Given the description of an element on the screen output the (x, y) to click on. 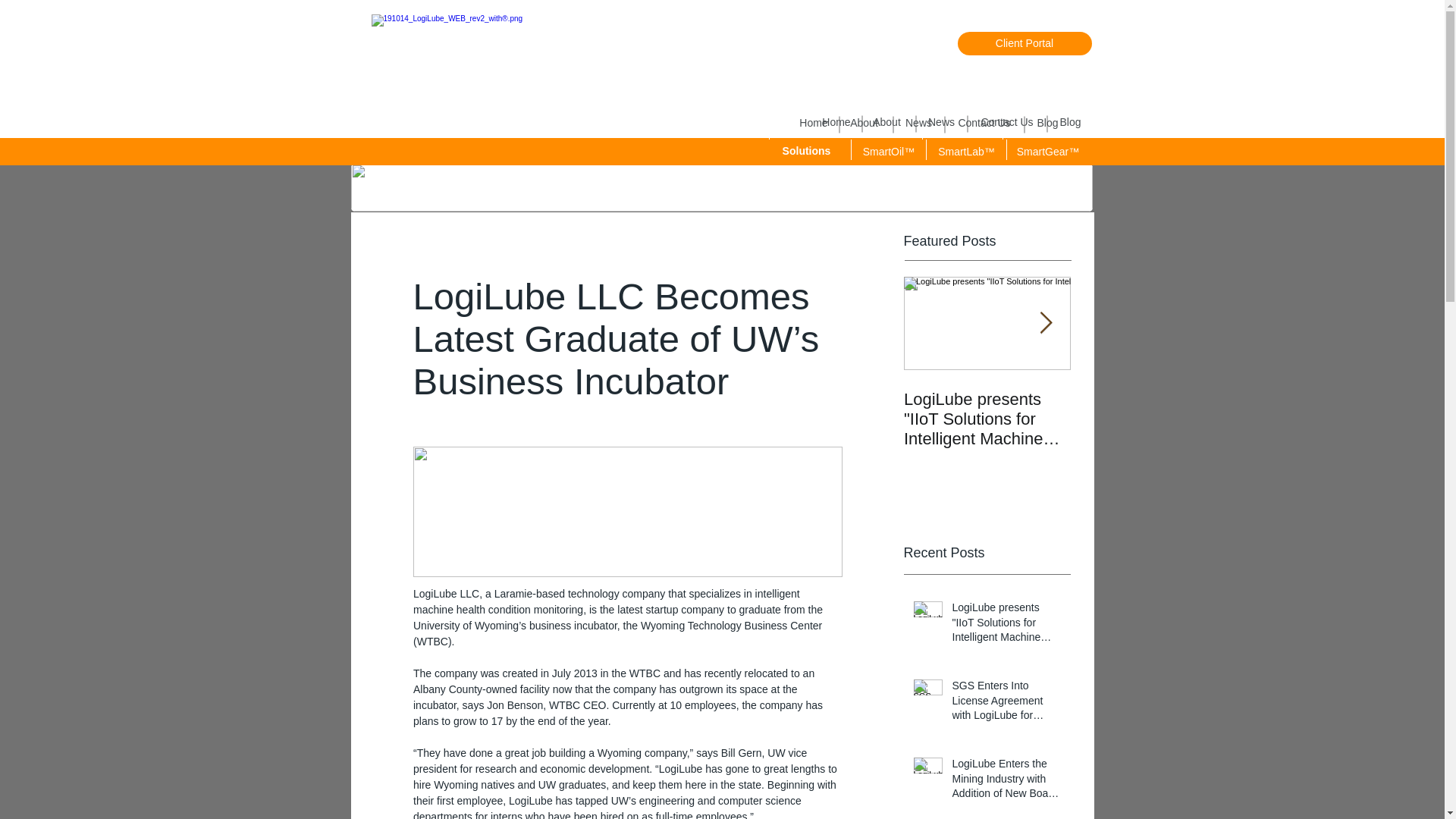
About (887, 122)
Contact Us (984, 123)
News (919, 123)
Blog (1047, 123)
Home (813, 123)
Client Portal (1023, 43)
Contact Us (1007, 122)
About (864, 123)
Home (835, 122)
Blog (1070, 122)
News (940, 122)
Solutions (806, 151)
Solutions (722, 149)
